Given the description of an element on the screen output the (x, y) to click on. 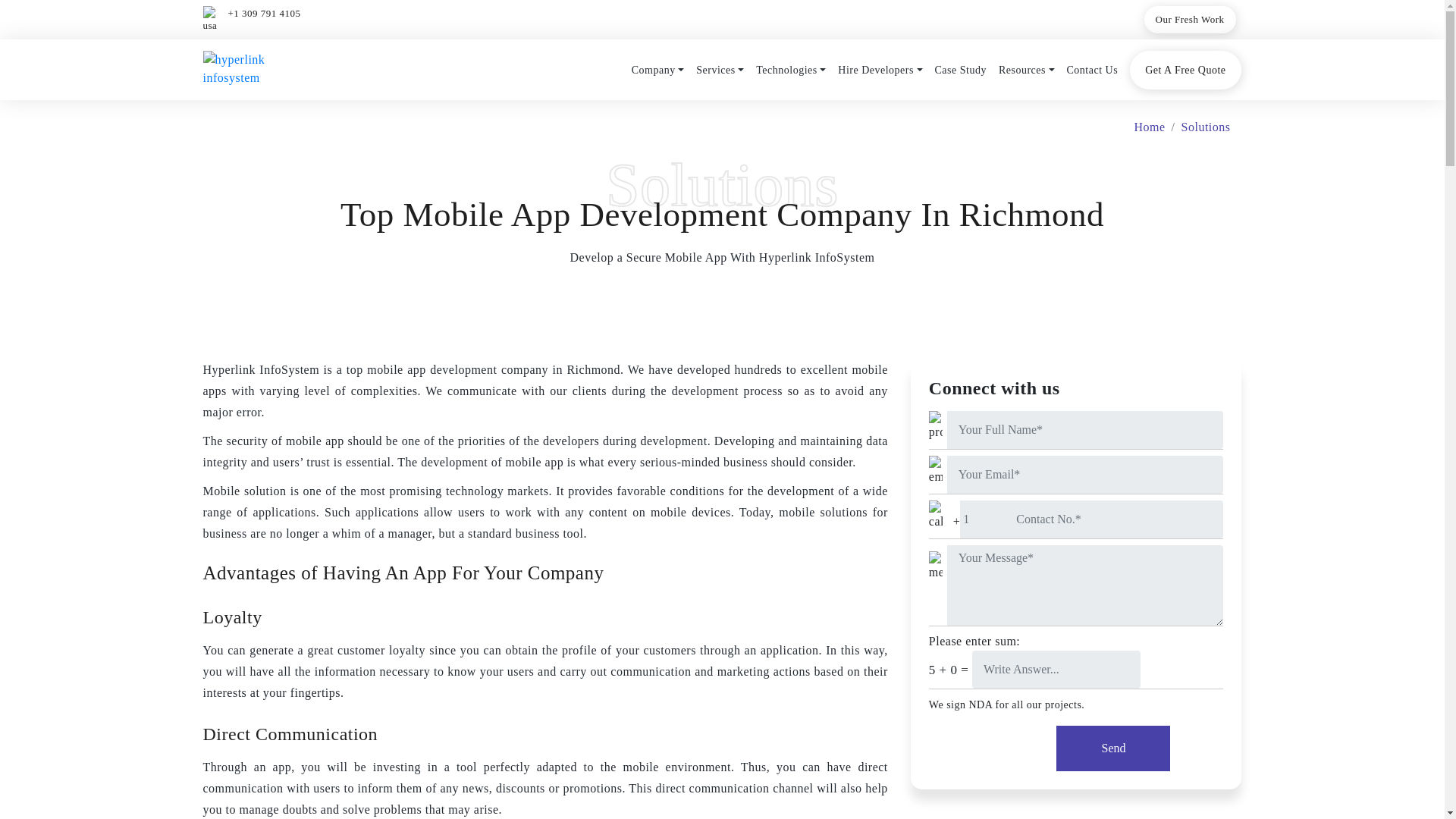
Our Fresh Work (1190, 19)
